Given the description of an element on the screen output the (x, y) to click on. 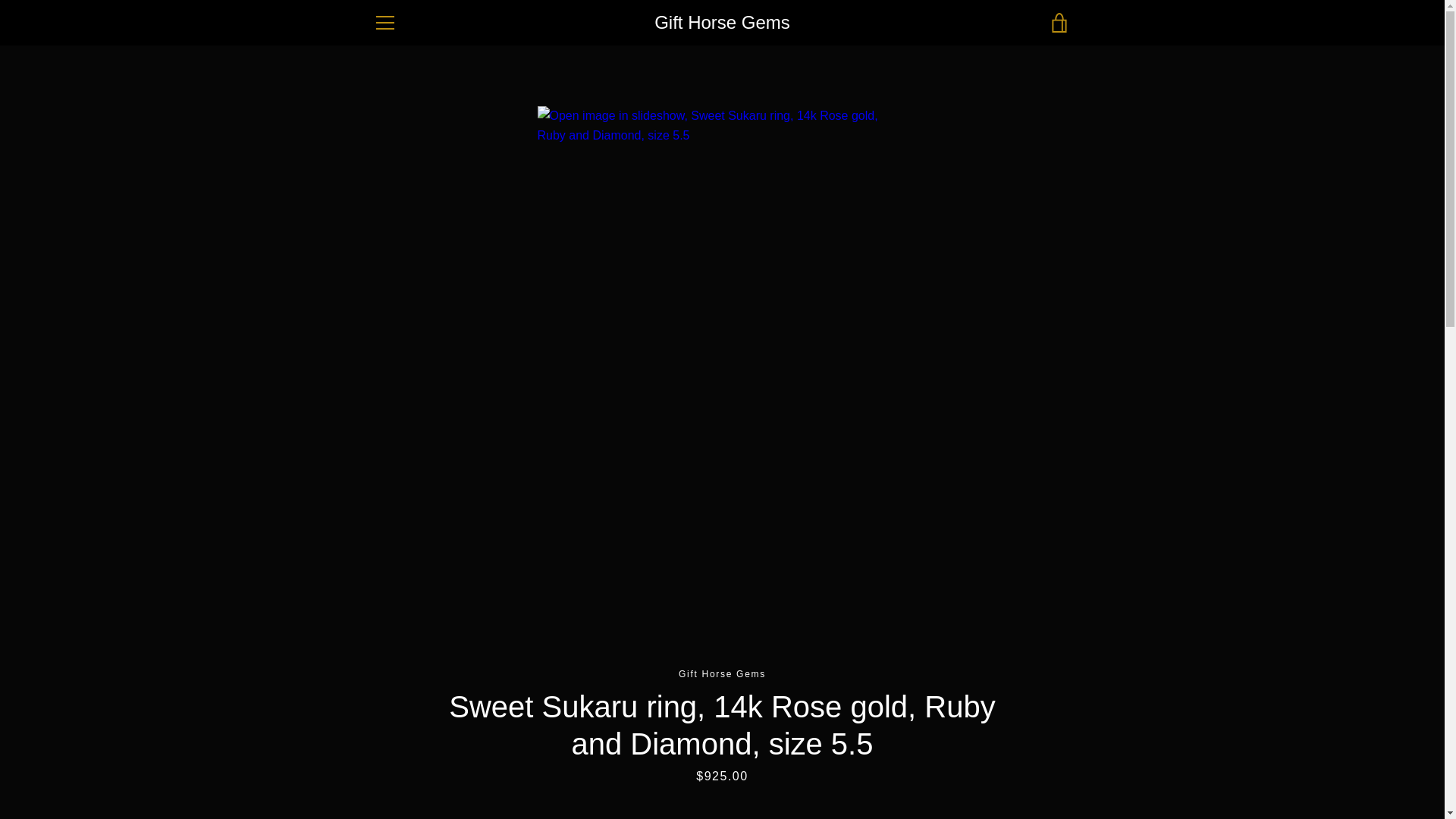
CONTACT US (405, 615)
Gift Horse Gems (972, 758)
MENU (384, 22)
VIEW CART (1059, 22)
Gift Horse Gems (721, 23)
Powered by Shopify (1004, 768)
Instagram (372, 768)
SUBSCRIBE (1029, 685)
Gift Horse Gems on Instagram (372, 768)
